Given the description of an element on the screen output the (x, y) to click on. 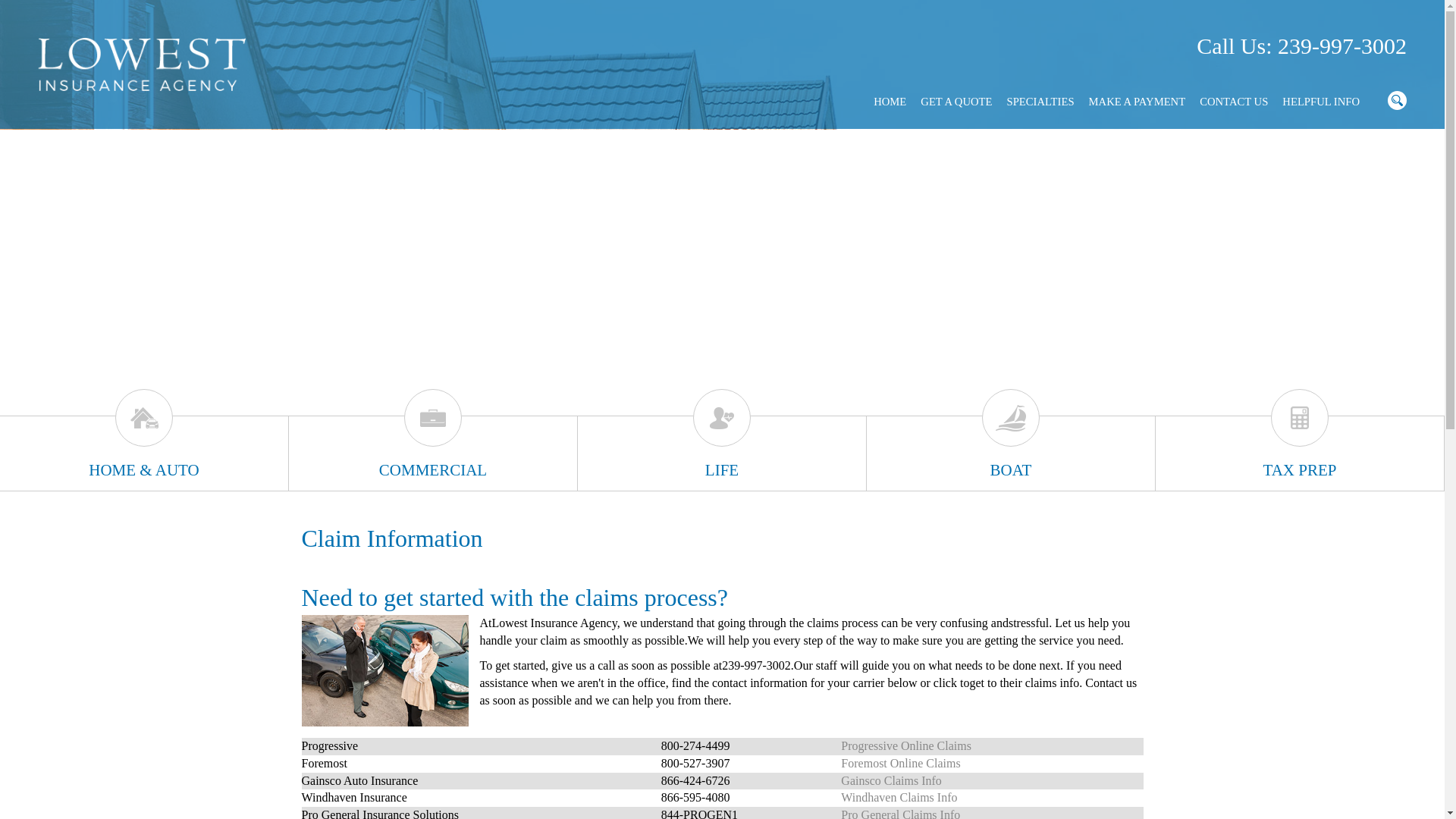
CONTACT US (1232, 101)
HELPFUL INFO (1320, 101)
SPECIALTIES (1040, 101)
Call Us: 239-997-3002 (1301, 46)
GET A QUOTE (956, 101)
MAKE A PAYMENT (1137, 101)
HOME (889, 101)
